Given the description of an element on the screen output the (x, y) to click on. 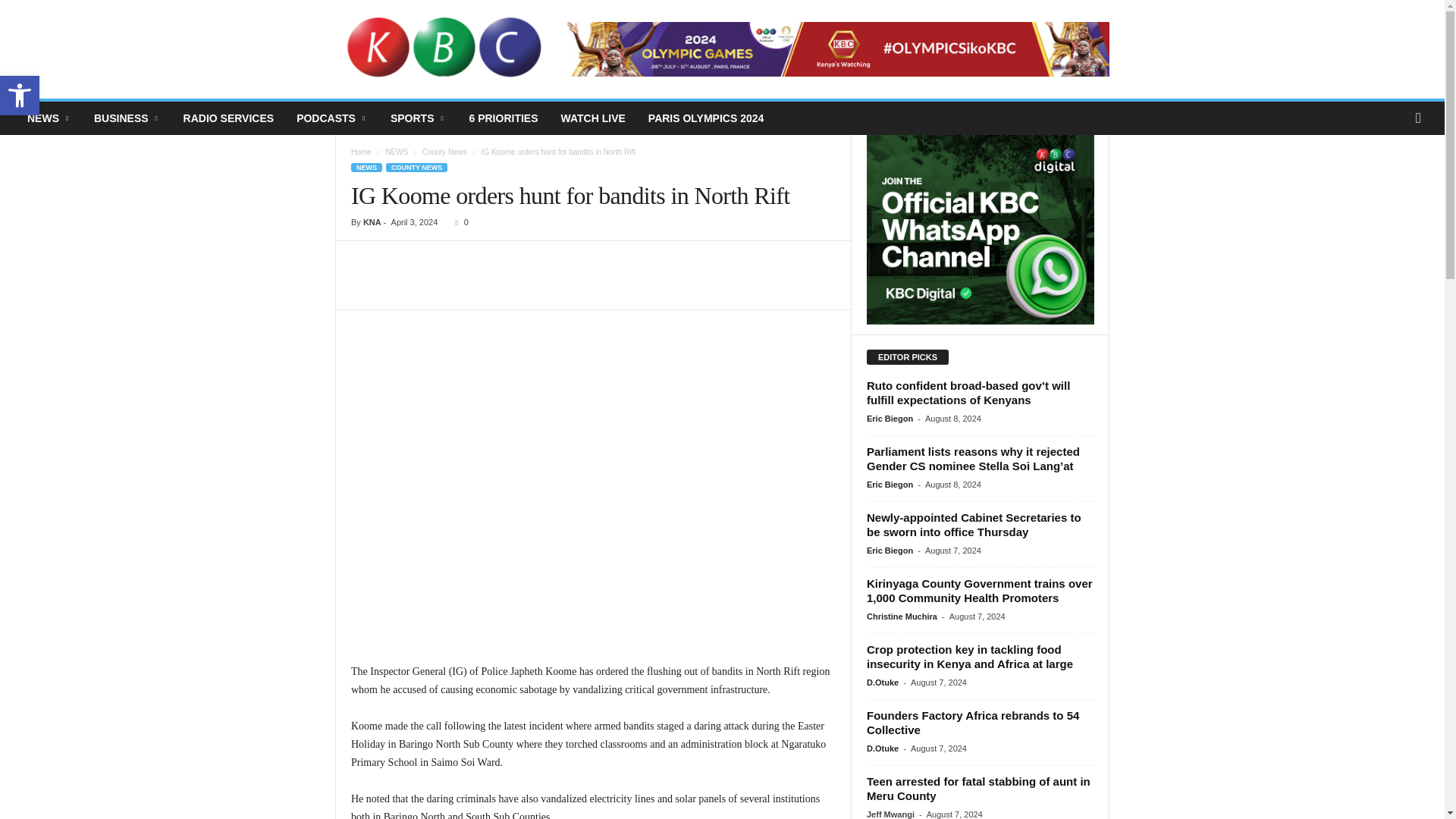
Accessibility Tools (19, 95)
Accessibility Tools (19, 95)
